Given the description of an element on the screen output the (x, y) to click on. 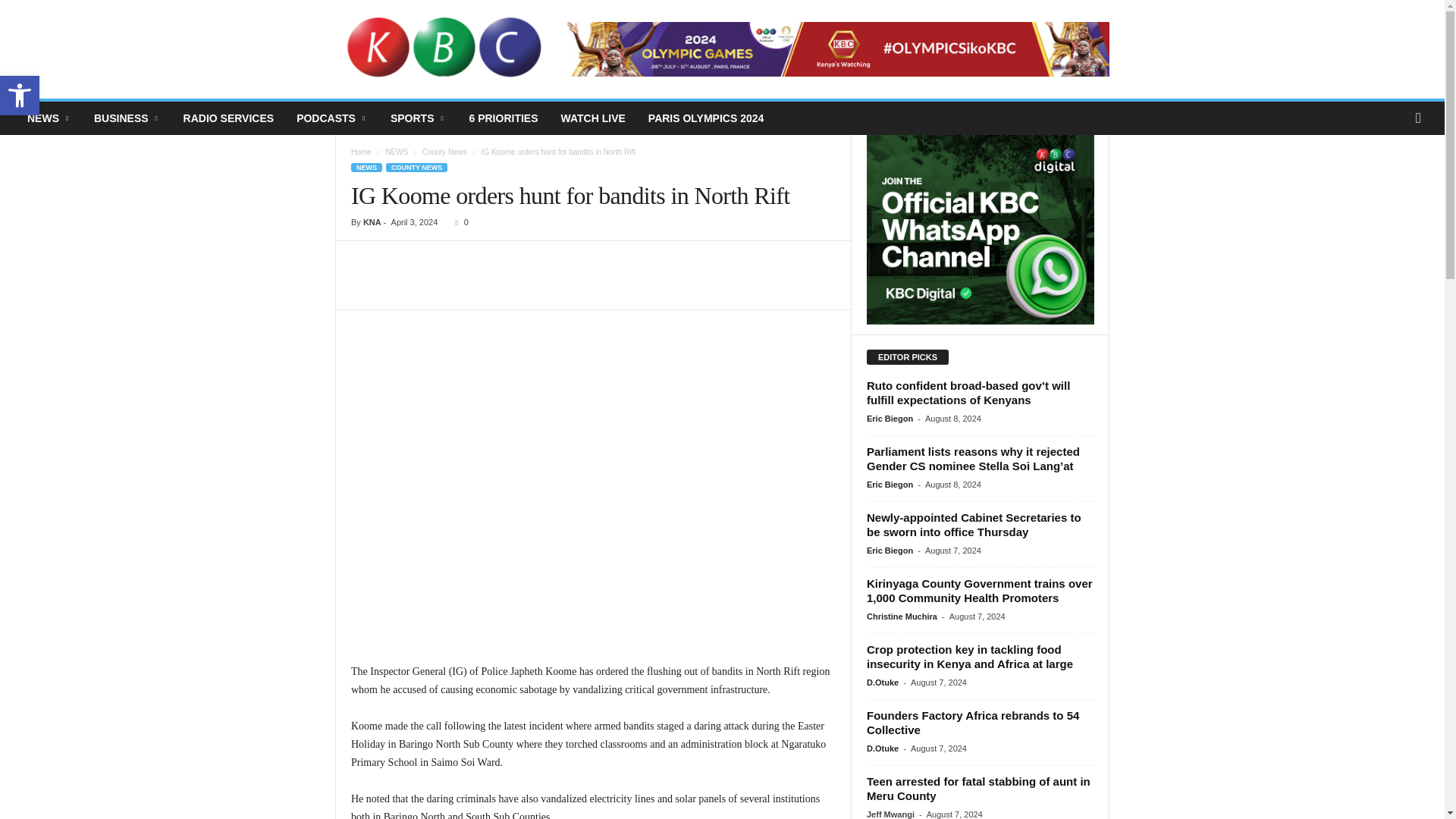
Accessibility Tools (19, 95)
Accessibility Tools (19, 95)
